Given the description of an element on the screen output the (x, y) to click on. 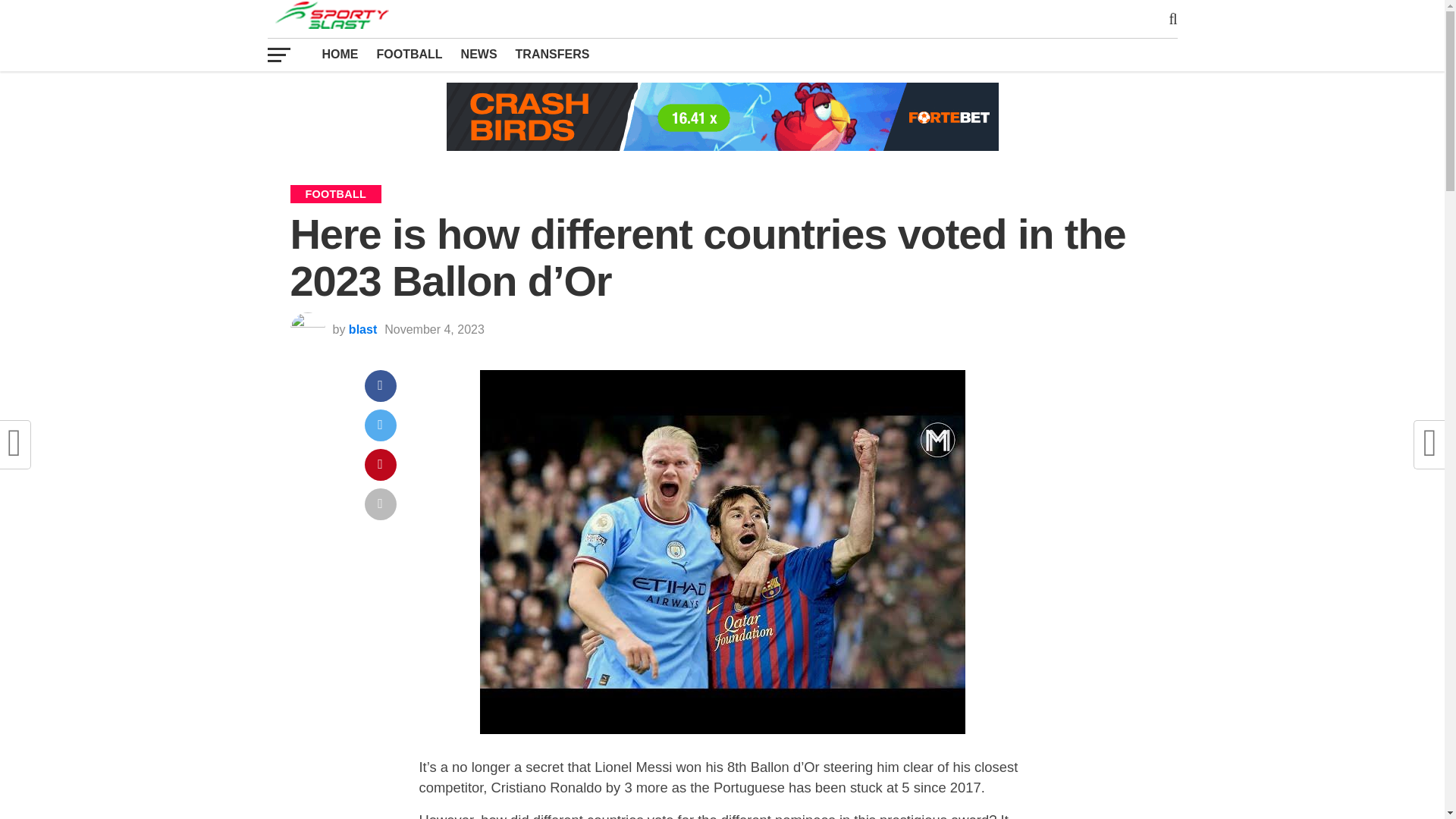
HOME (339, 54)
TRANSFERS (552, 54)
blast (363, 328)
NEWS (478, 54)
Posts by blast (363, 328)
FOOTBALL (408, 54)
